Given the description of an element on the screen output the (x, y) to click on. 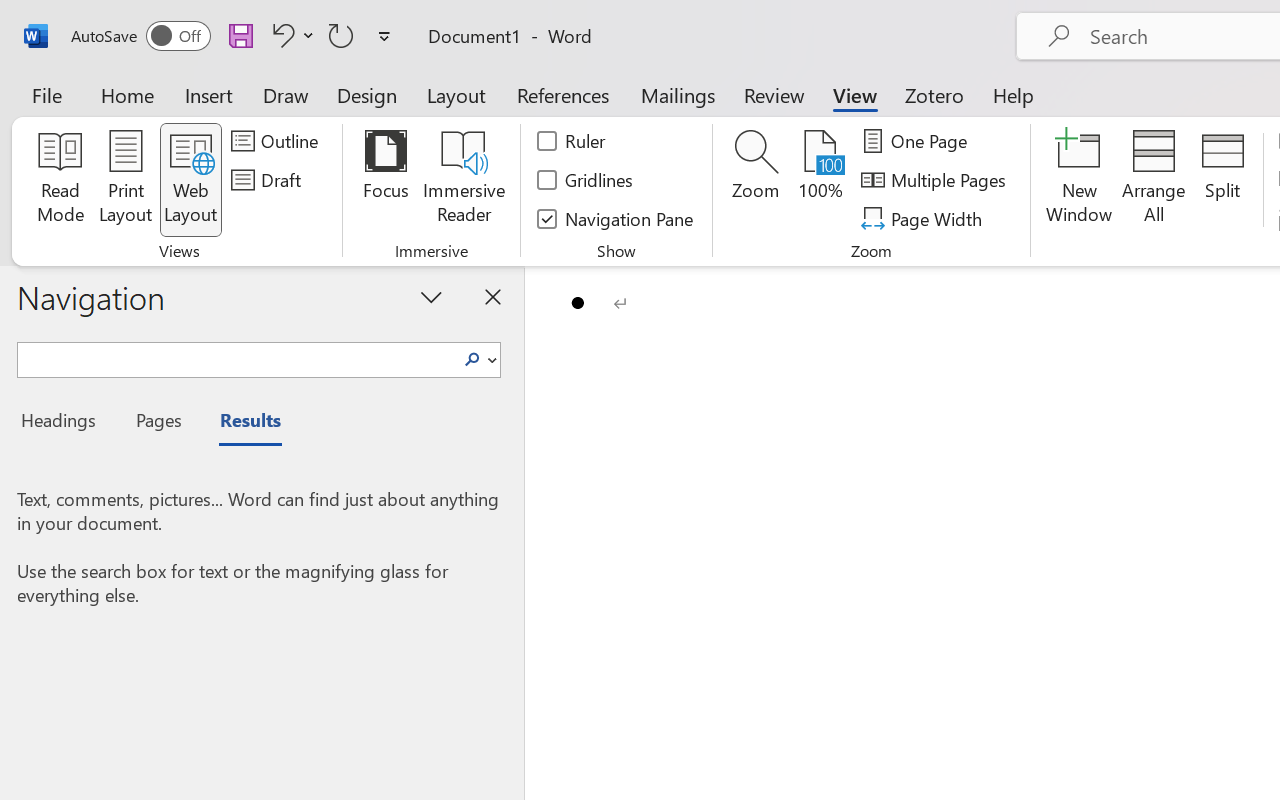
Draft (269, 179)
Headings (64, 423)
Multiple Pages (936, 179)
Page Width (924, 218)
Undo Bullet Default (290, 35)
Arrange All (1153, 179)
One Page (917, 141)
Focus (385, 179)
